Given the description of an element on the screen output the (x, y) to click on. 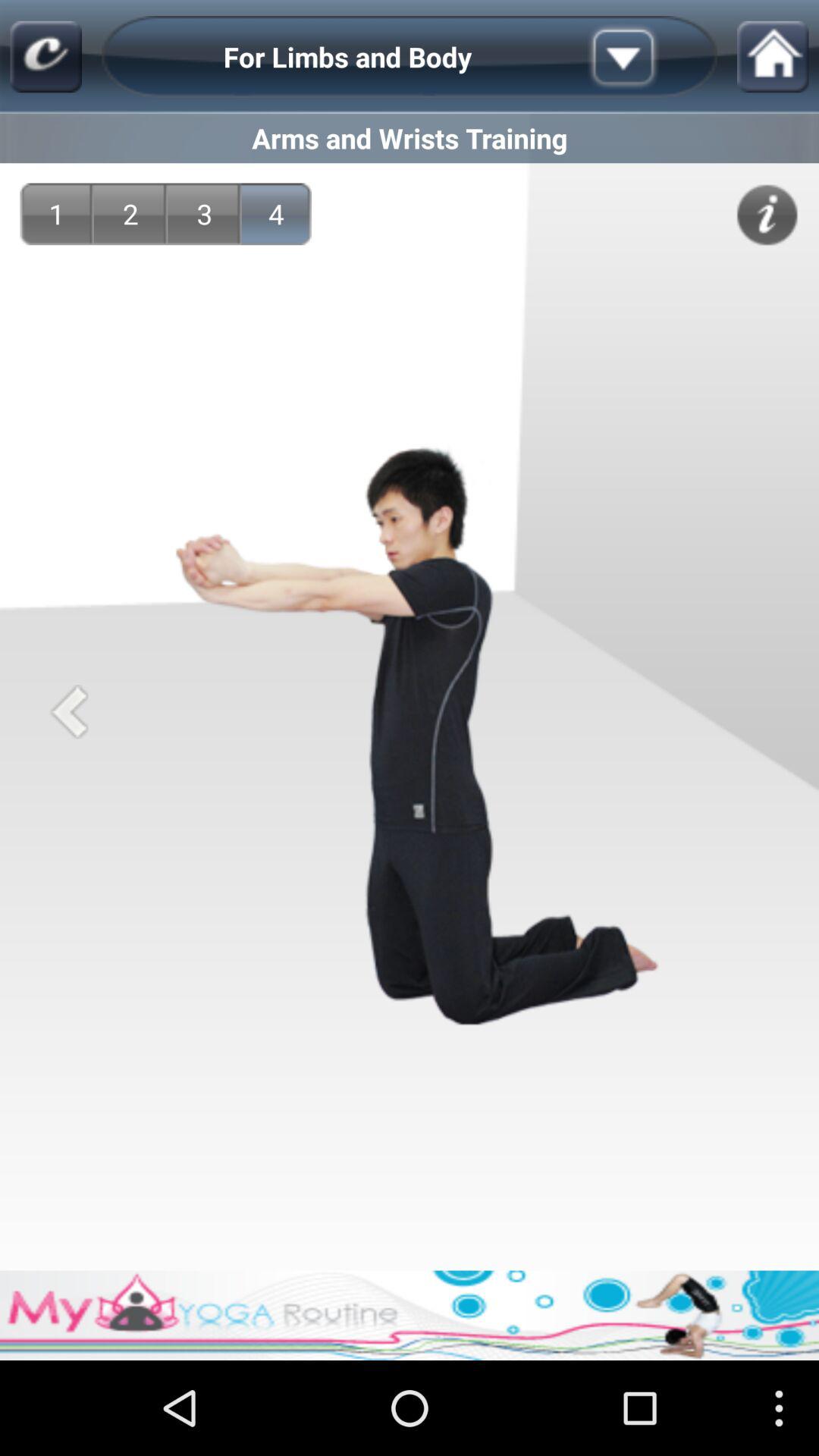
select the button on the left (68, 711)
